Given the description of an element on the screen output the (x, y) to click on. 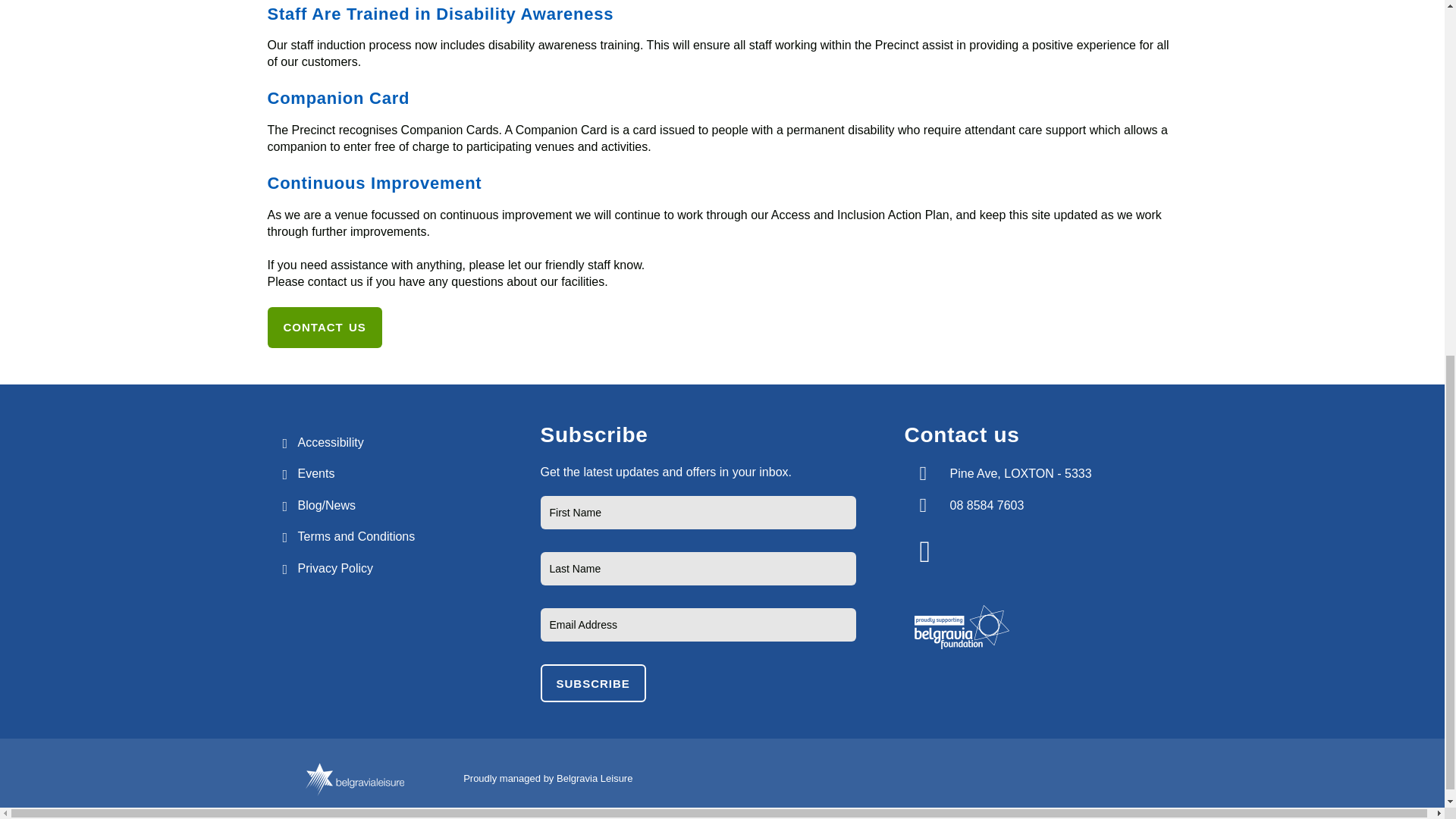
subscribe (592, 682)
